Given the description of an element on the screen output the (x, y) to click on. 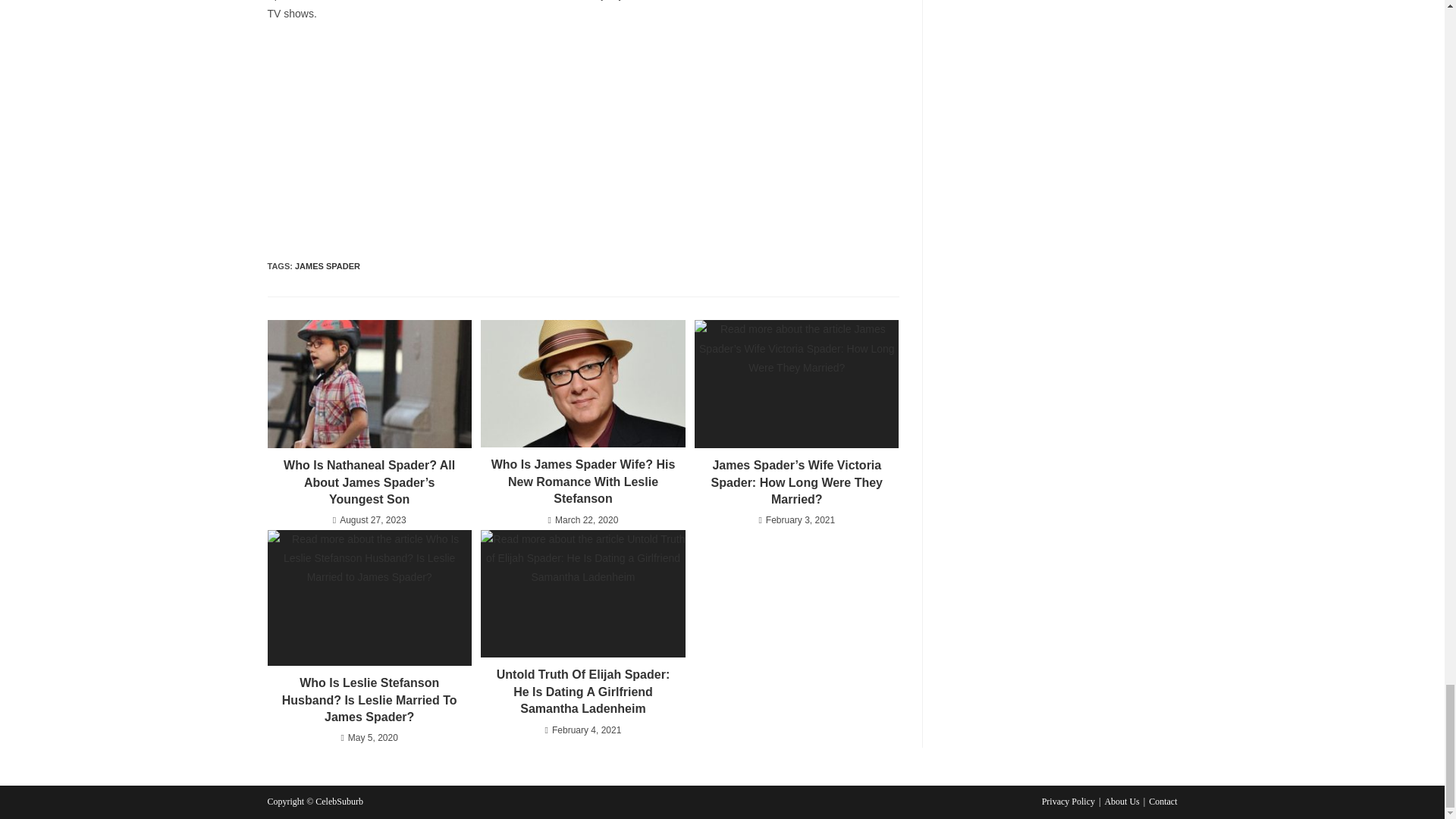
JAMES SPADER (327, 266)
